Given the description of an element on the screen output the (x, y) to click on. 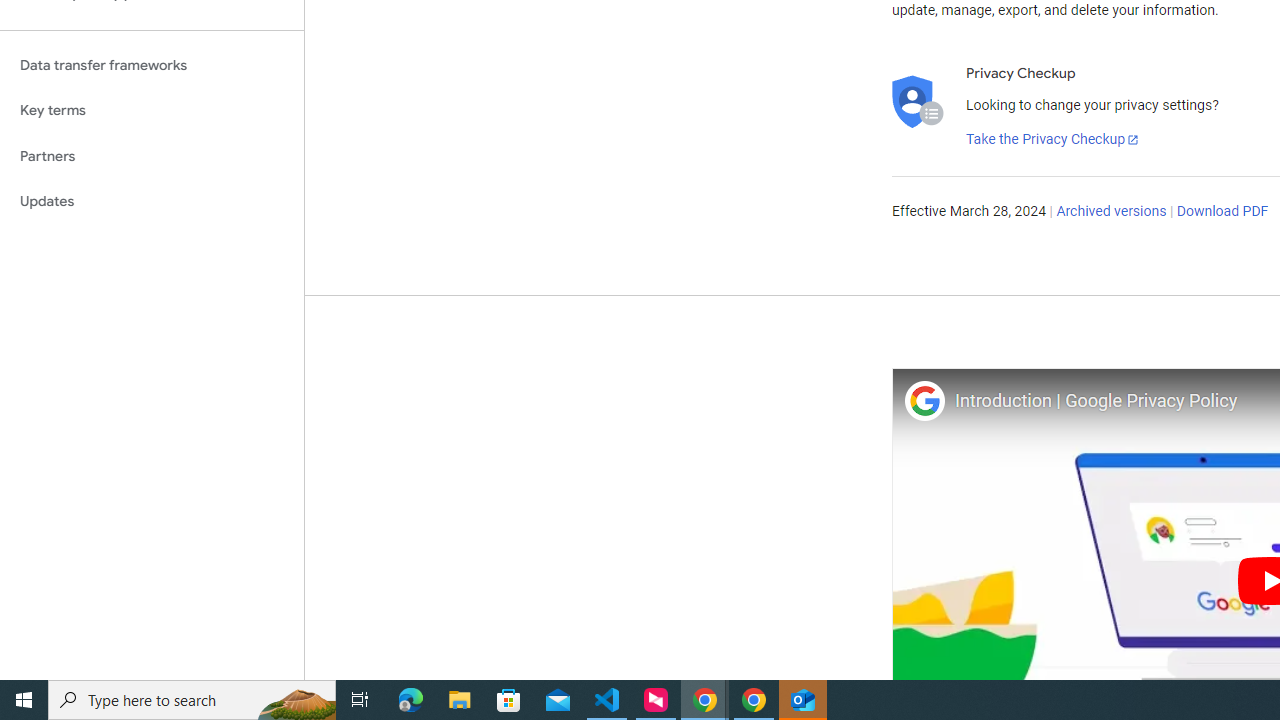
Take the Privacy Checkup (1053, 140)
Photo image of Google (924, 400)
